Given the description of an element on the screen output the (x, y) to click on. 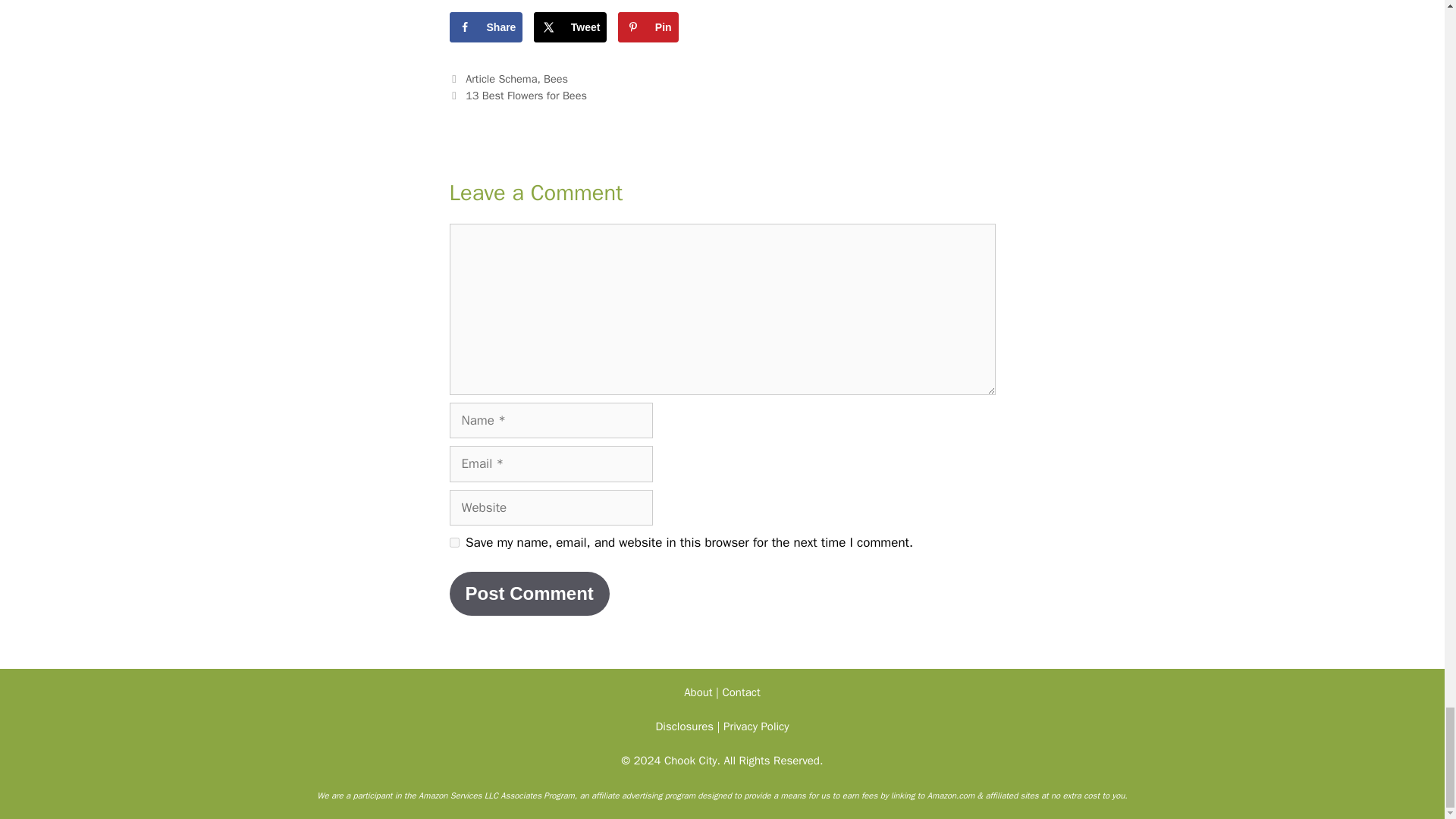
Save to Pinterest (647, 27)
Contact (741, 692)
13 Best Flowers for Bees (525, 95)
Bees (555, 78)
yes (453, 542)
Tweet (570, 27)
Post Comment (528, 593)
Disclosures (684, 726)
Post Comment (528, 593)
About (697, 692)
Share on X (570, 27)
Article Schema (501, 78)
Pin (647, 27)
Share on Facebook (485, 27)
Share (485, 27)
